Given the description of an element on the screen output the (x, y) to click on. 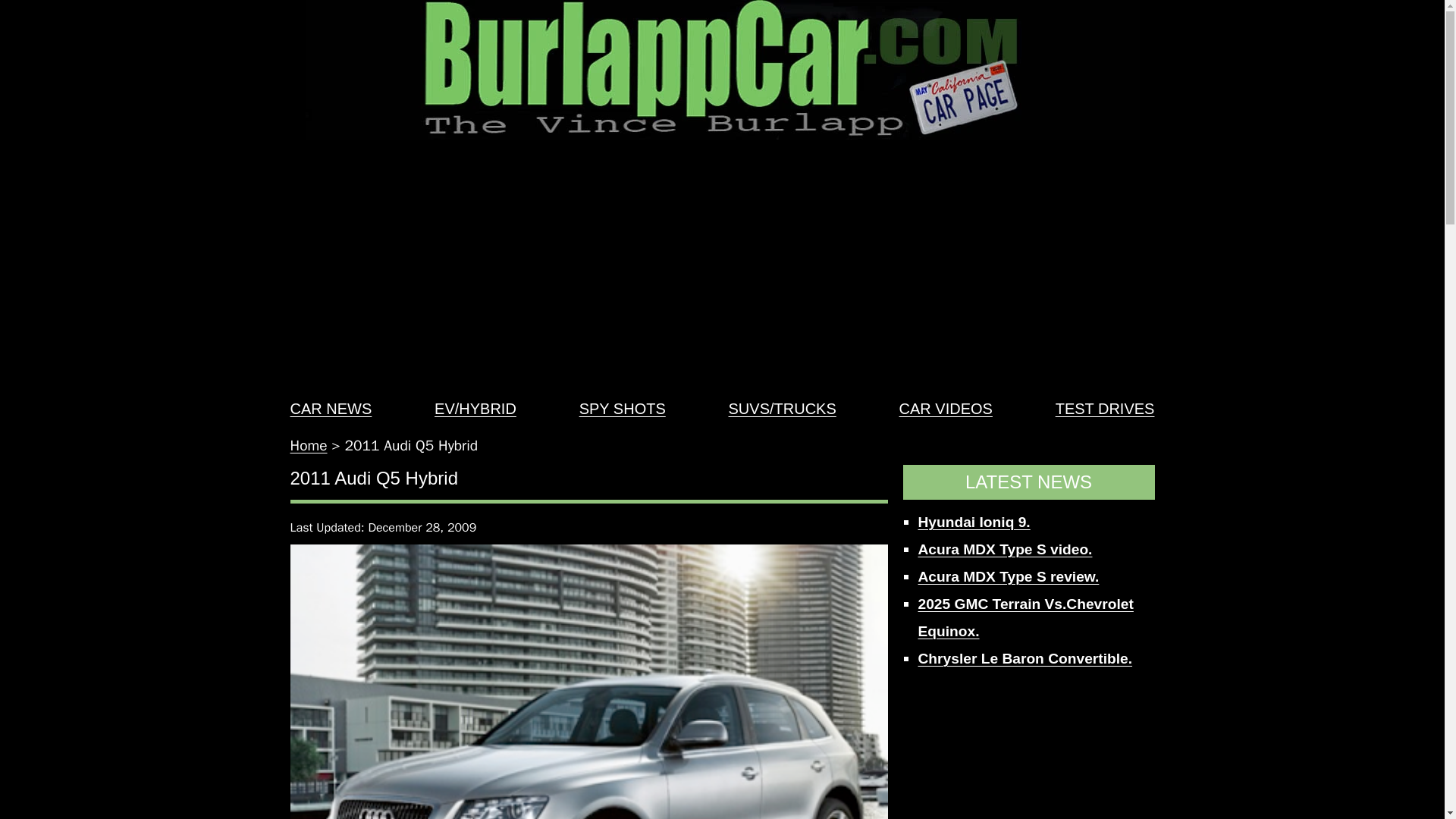
Acura MDX Type S video. (1004, 549)
Acura MDX Type S review. (1008, 576)
TEST DRIVES (1104, 408)
SPY SHOTS (622, 408)
CAR NEWS (330, 408)
2025 GMC Terrain Vs.Chevrolet Equinox. (1024, 617)
Home (307, 445)
Hyundai Ioniq 9. (973, 521)
Acura MDX Type S review. (1008, 576)
